Given the description of an element on the screen output the (x, y) to click on. 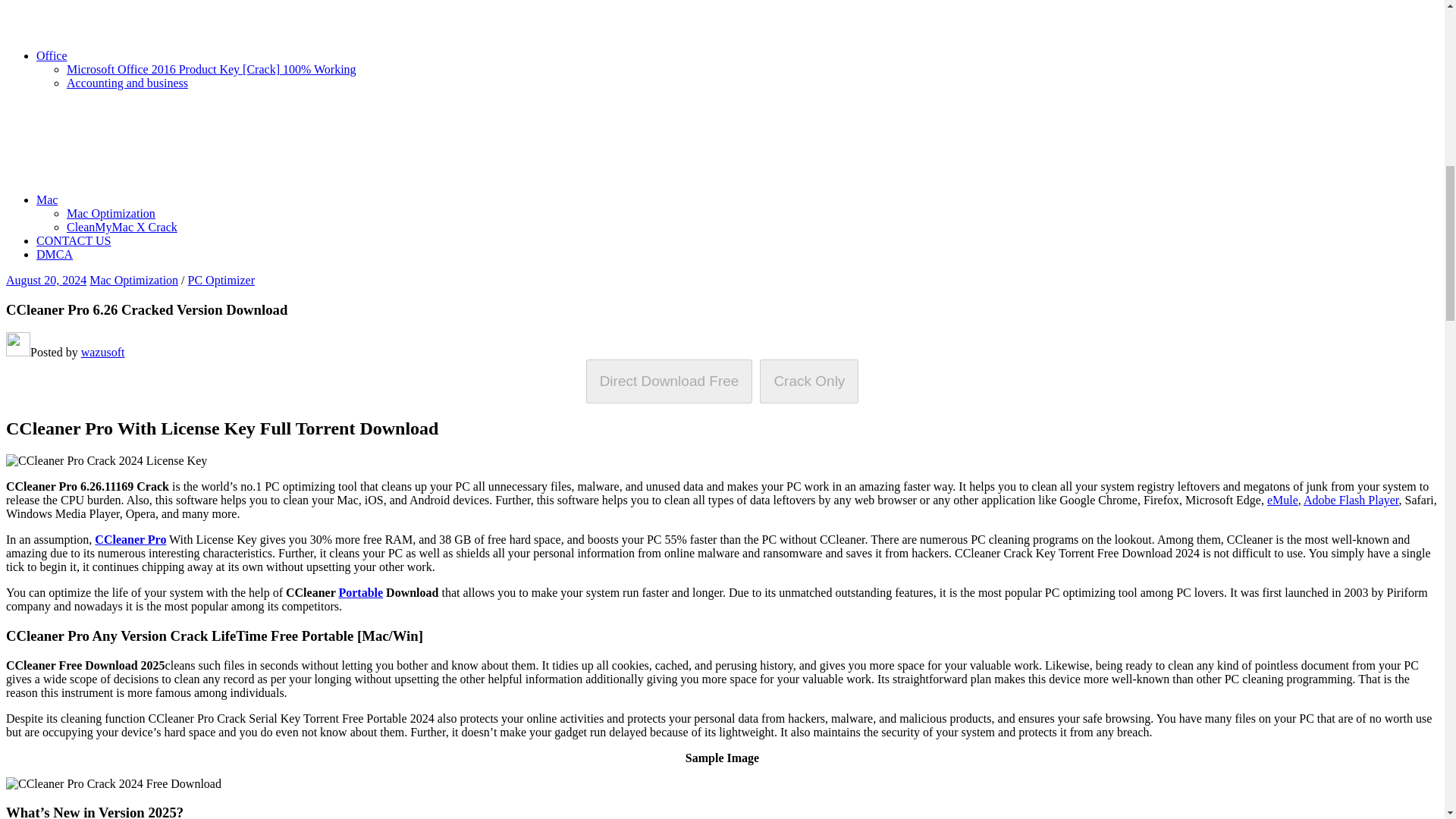
2:22 am (45, 279)
Direct Download FreeCrack Only (722, 381)
August 20, 2024 (45, 279)
CCleaner Pro (129, 539)
DMCA (54, 254)
Accounting and business (126, 82)
eMule (1282, 499)
PC Optimizer (220, 279)
Crack Only (809, 381)
Office (165, 55)
